Given the description of an element on the screen output the (x, y) to click on. 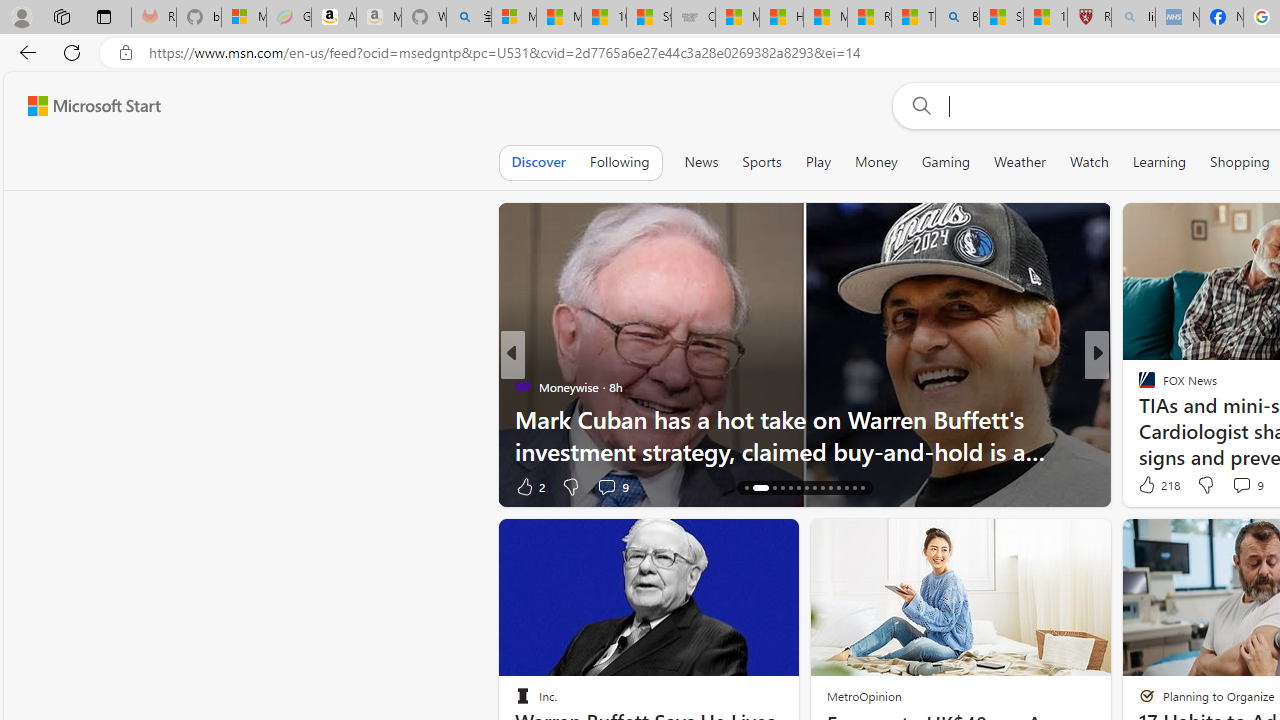
15 Like (1149, 486)
View comments 34 Comment (1244, 486)
MetroOpinion (863, 696)
AutomationID: tab-23 (821, 487)
